Given the description of an element on the screen output the (x, y) to click on. 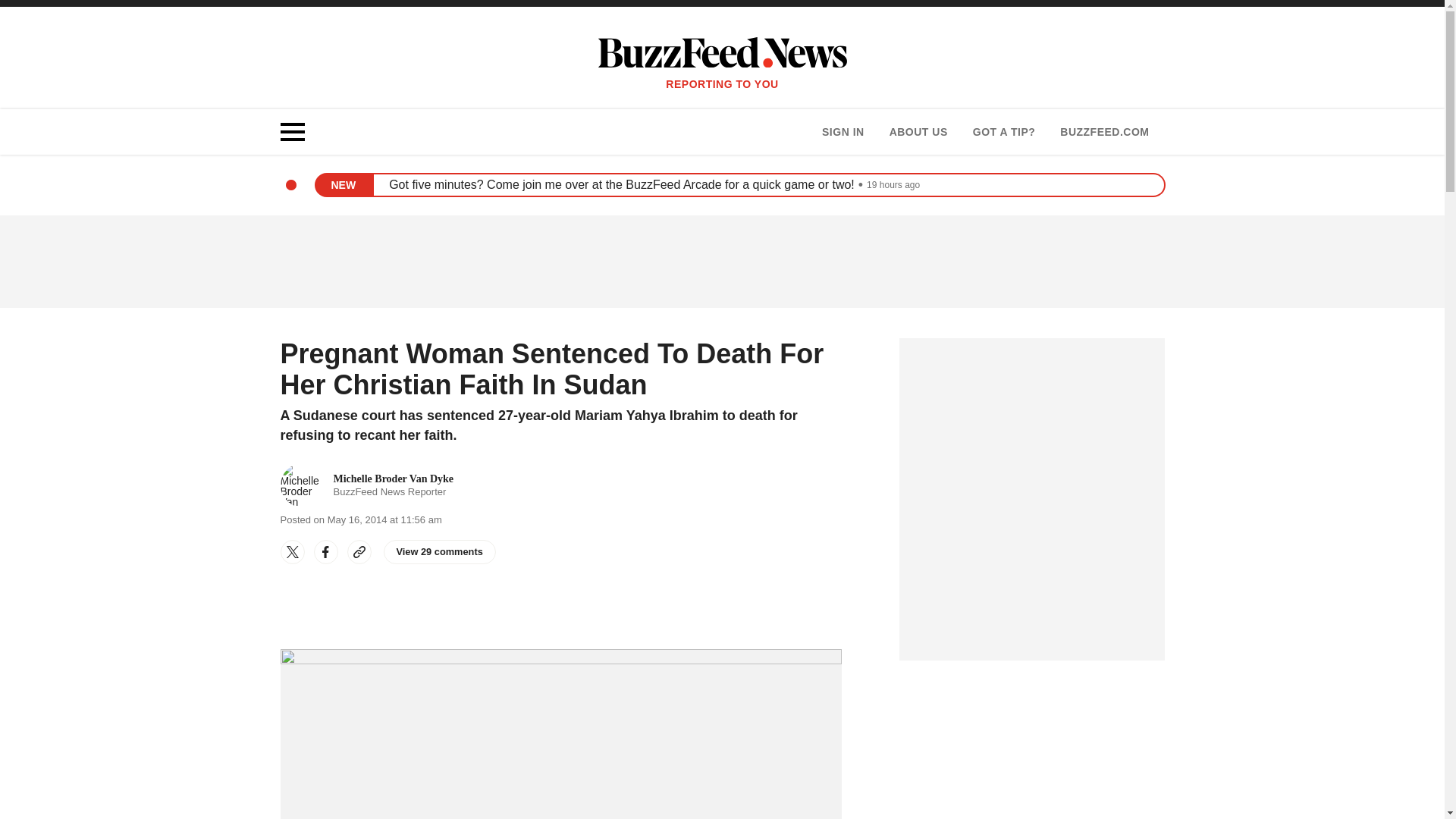
ABOUT US (917, 131)
GOT A TIP? (1003, 131)
View 29 comments (440, 551)
BUZZFEED.COM (1103, 131)
SIGN IN (842, 131)
